Given the description of an element on the screen output the (x, y) to click on. 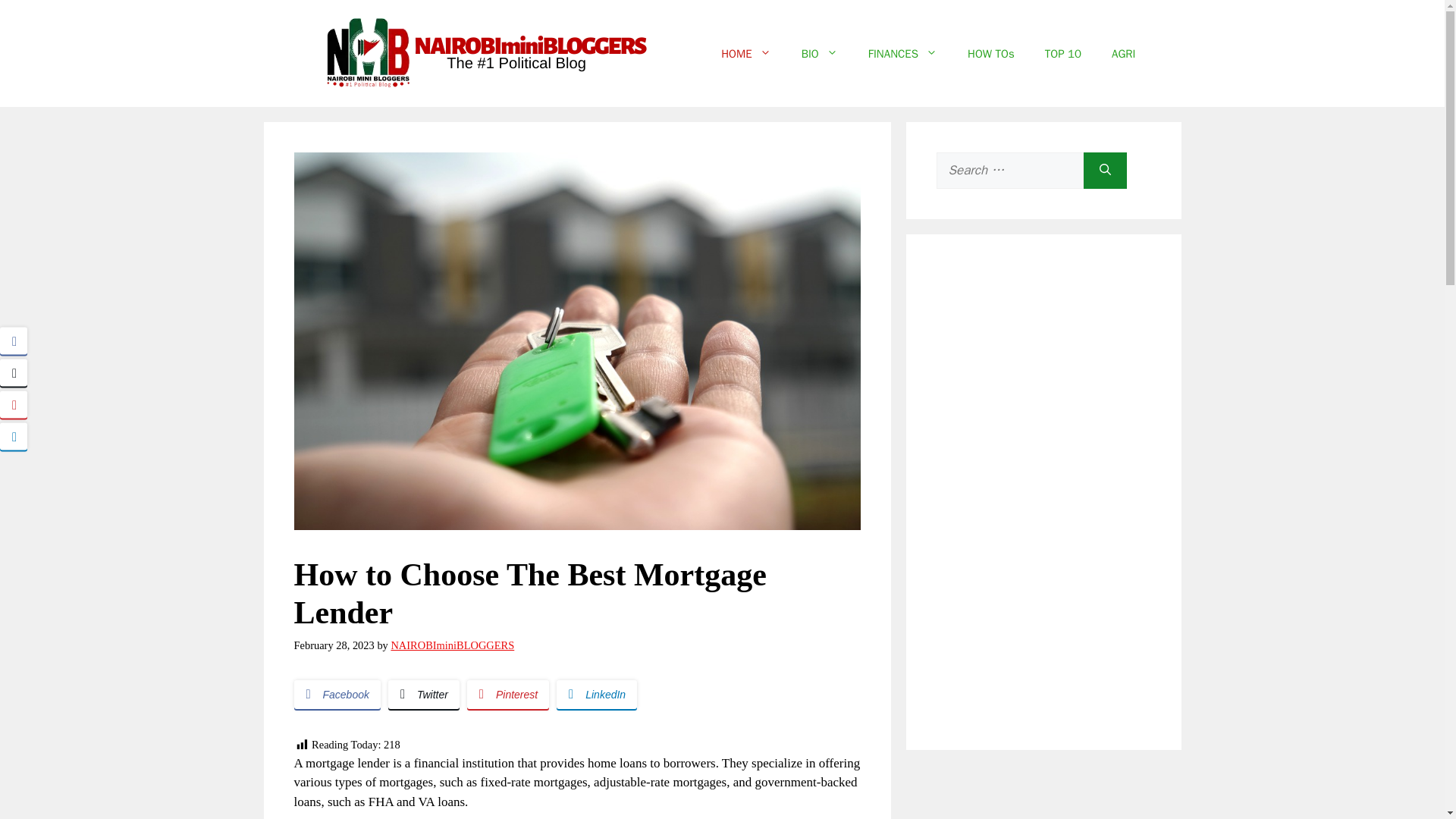
Twitter (424, 694)
HOW TOs (990, 53)
Facebook (337, 694)
BIO (819, 53)
AGRI (1123, 53)
LinkedIn (596, 694)
View all posts by NAIROBIminiBLOGGERS (451, 645)
Pinterest (507, 694)
NAIROBIminiBLOGGERS (451, 645)
TOP 10 (1062, 53)
